Given the description of an element on the screen output the (x, y) to click on. 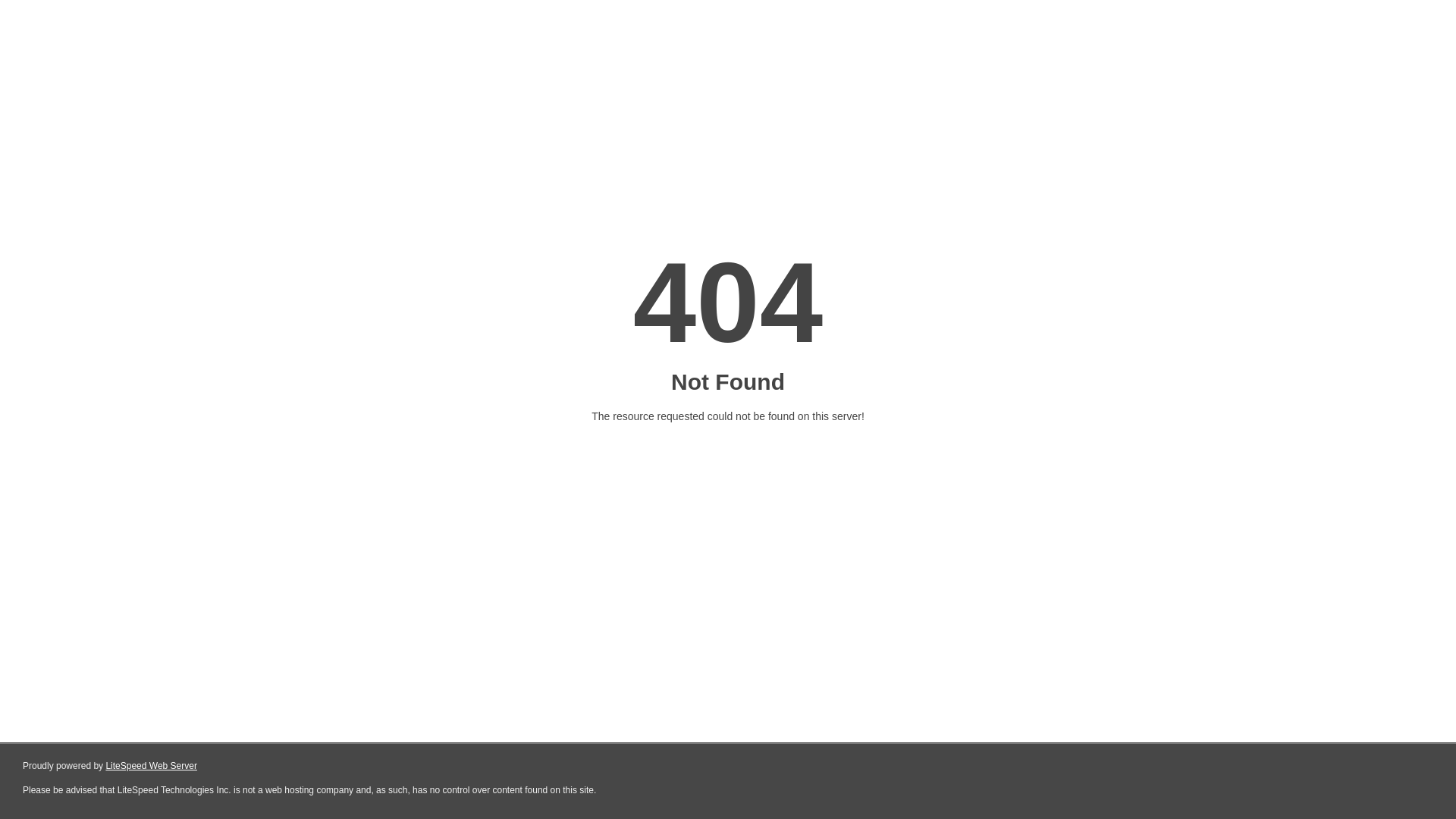
LiteSpeed Web Server Element type: text (151, 765)
